Given the description of an element on the screen output the (x, y) to click on. 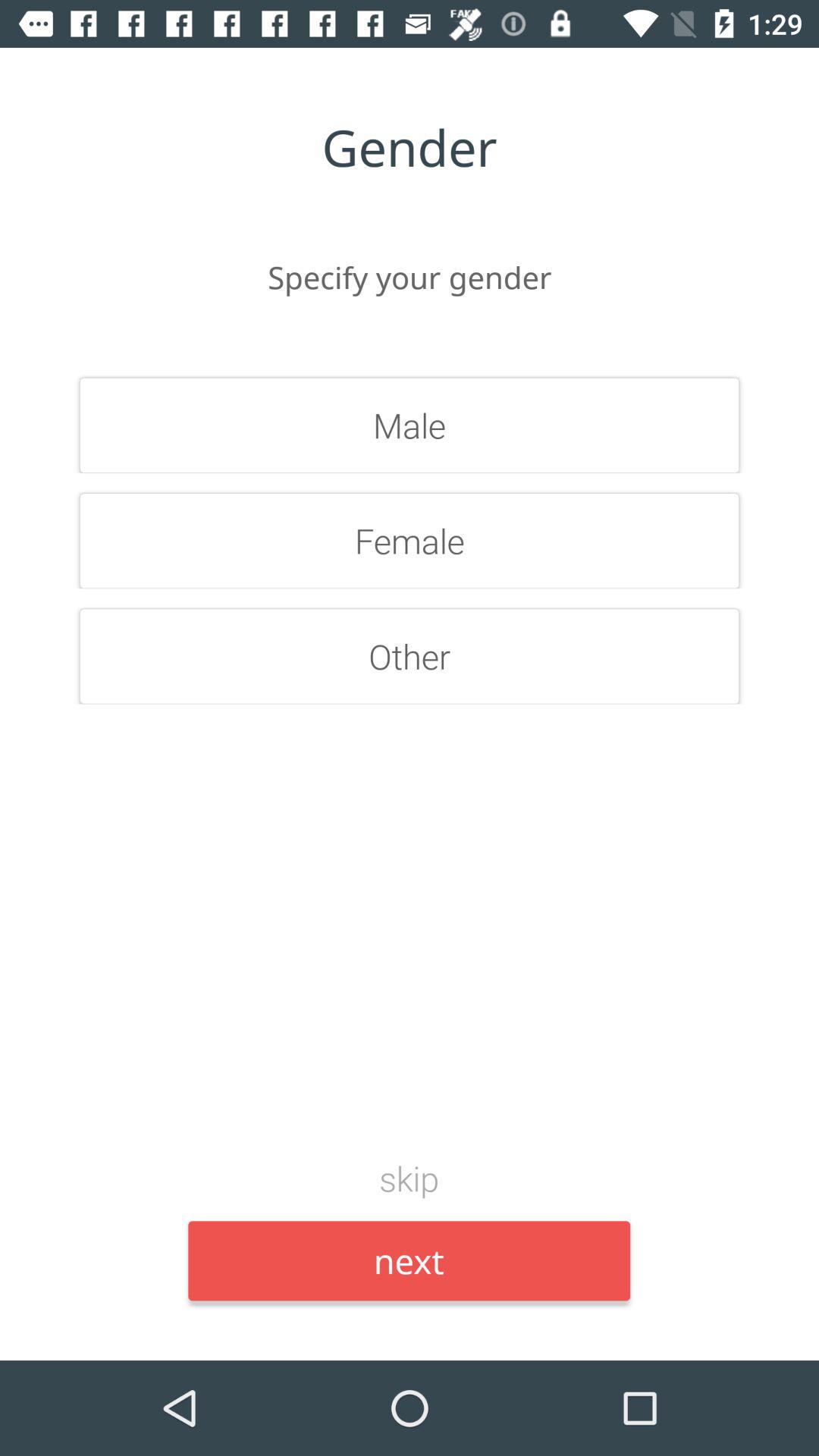
tap the item below skip icon (409, 1260)
